Given the description of an element on the screen output the (x, y) to click on. 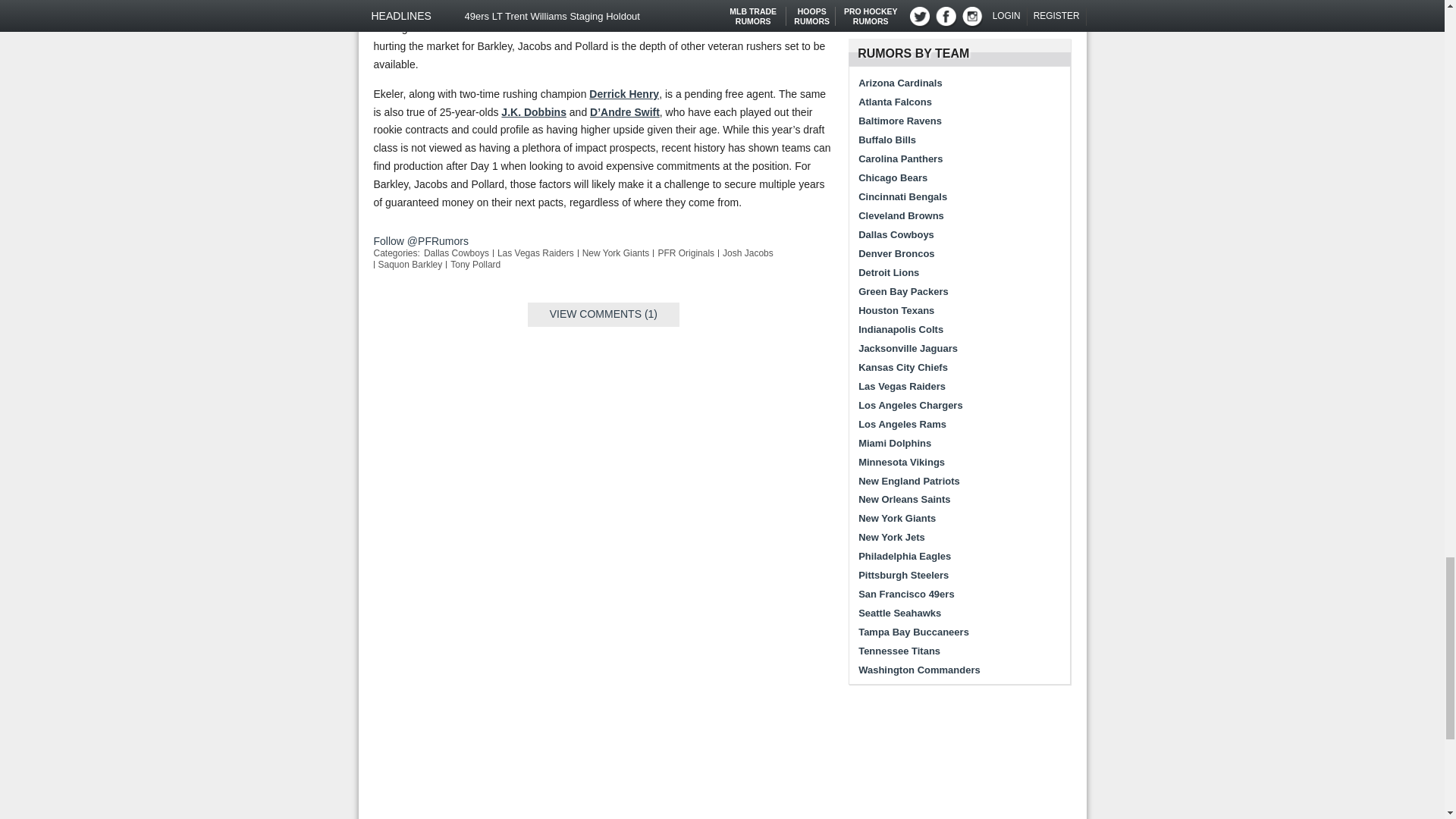
View all posts in PFR Originals (686, 253)
View all posts in Dallas Cowboys (456, 253)
View all posts in Las Vegas Raiders (535, 253)
View all posts in Josh Jacobs (747, 253)
View all posts in Saquon Barkley (409, 264)
View all posts in Tony Pollard (474, 264)
View all posts in New York Giants (615, 253)
